Given the description of an element on the screen output the (x, y) to click on. 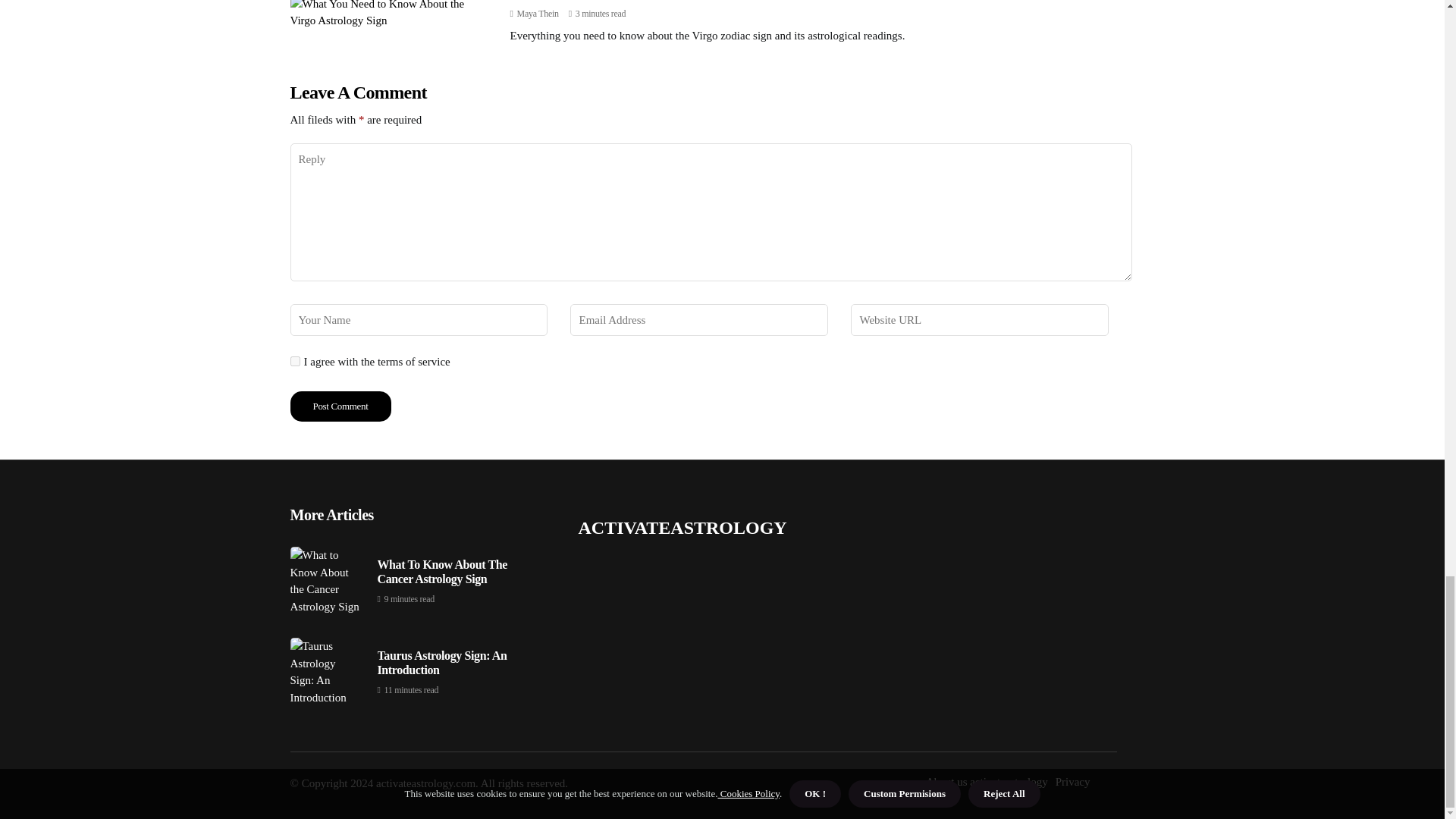
Posts by Maya Thein (537, 13)
Post Comment (339, 406)
yes (294, 361)
